Given the description of an element on the screen output the (x, y) to click on. 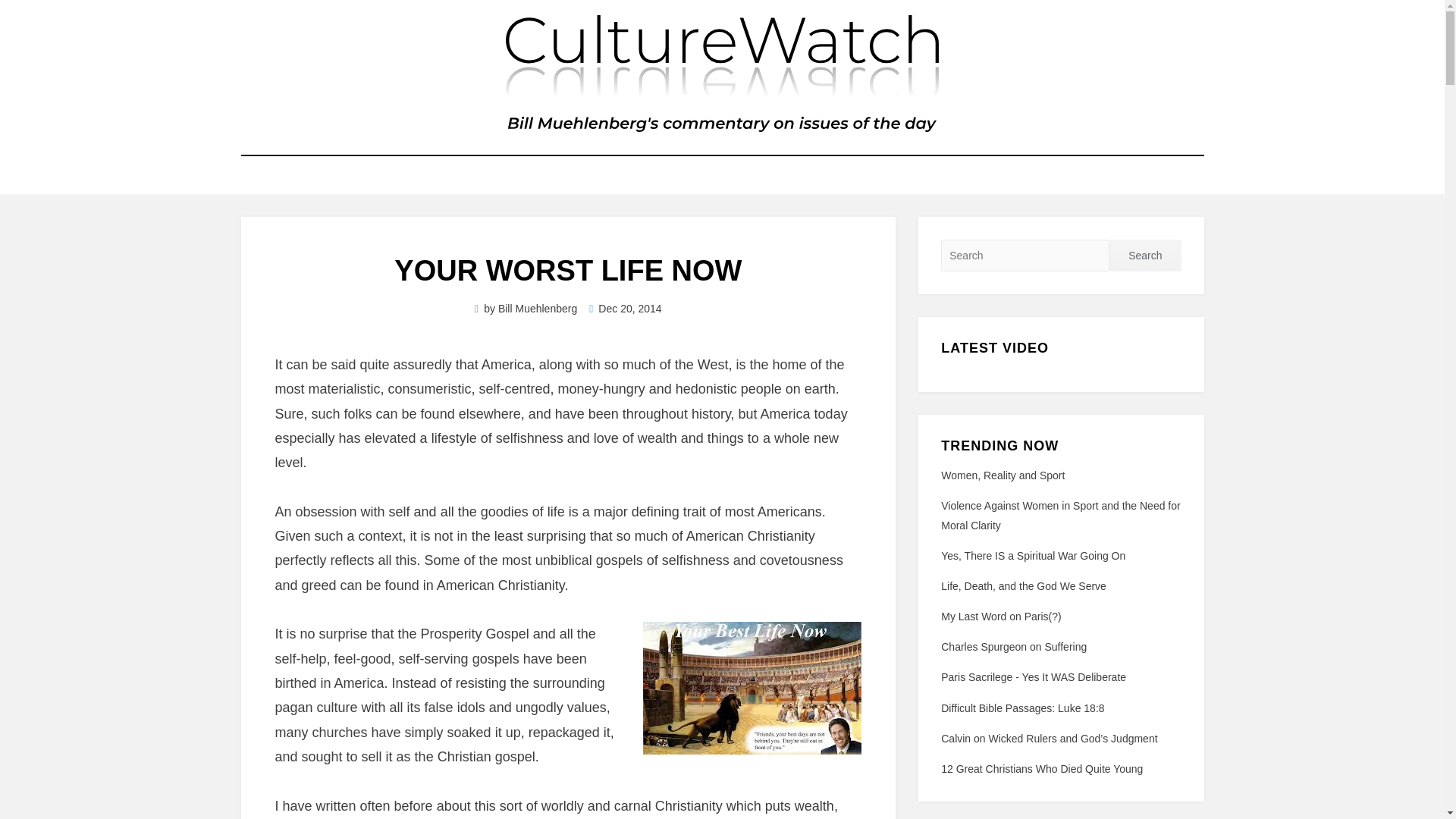
Bill Muehlenberg (536, 308)
Dec 20, 2014 (625, 308)
